Given the description of an element on the screen output the (x, y) to click on. 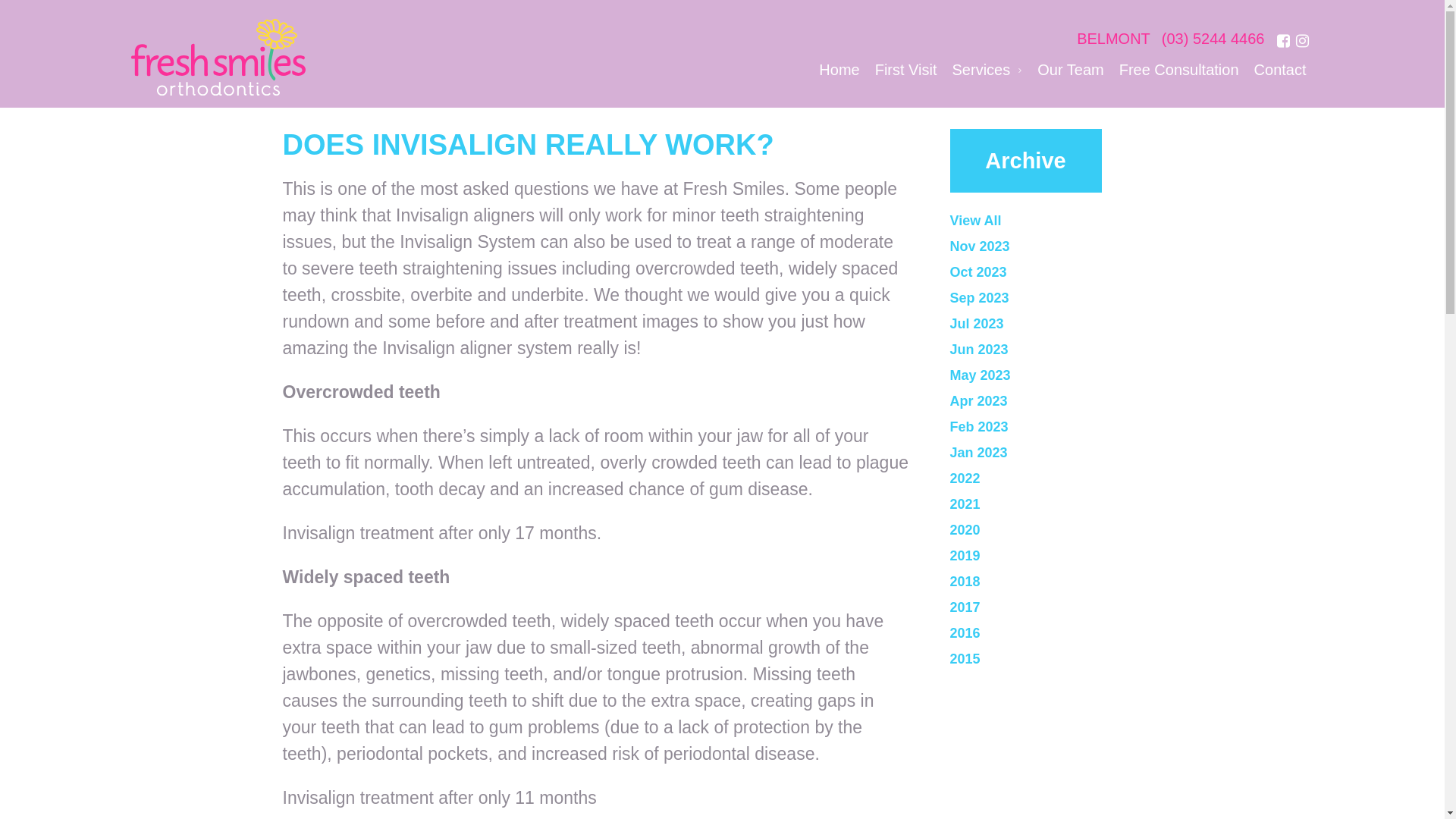
Home Element type: text (839, 70)
Sep 2023 Element type: text (1055, 297)
Feb 2023 Element type: text (1055, 426)
Nov 2023 Element type: text (1055, 246)
Our Team Element type: text (1070, 70)
Oct 2023 Element type: text (1055, 272)
2017 Element type: text (1055, 607)
Services Element type: text (987, 70)
2021 Element type: text (1055, 504)
Apr 2023 Element type: text (1055, 401)
2015 Element type: text (1055, 658)
2020 Element type: text (1055, 529)
View All Element type: text (1055, 220)
2016 Element type: text (1055, 633)
Jun 2023 Element type: text (1055, 349)
May 2023 Element type: text (1055, 375)
Contact Element type: text (1280, 70)
2022 Element type: text (1055, 478)
First Visit Element type: text (906, 70)
(03) 5244 4466 Element type: text (1212, 40)
Jul 2023 Element type: text (1055, 323)
Jan 2023 Element type: text (1055, 452)
Free Consultation Element type: text (1179, 70)
2018 Element type: text (1055, 581)
2019 Element type: text (1055, 555)
